Given the description of an element on the screen output the (x, y) to click on. 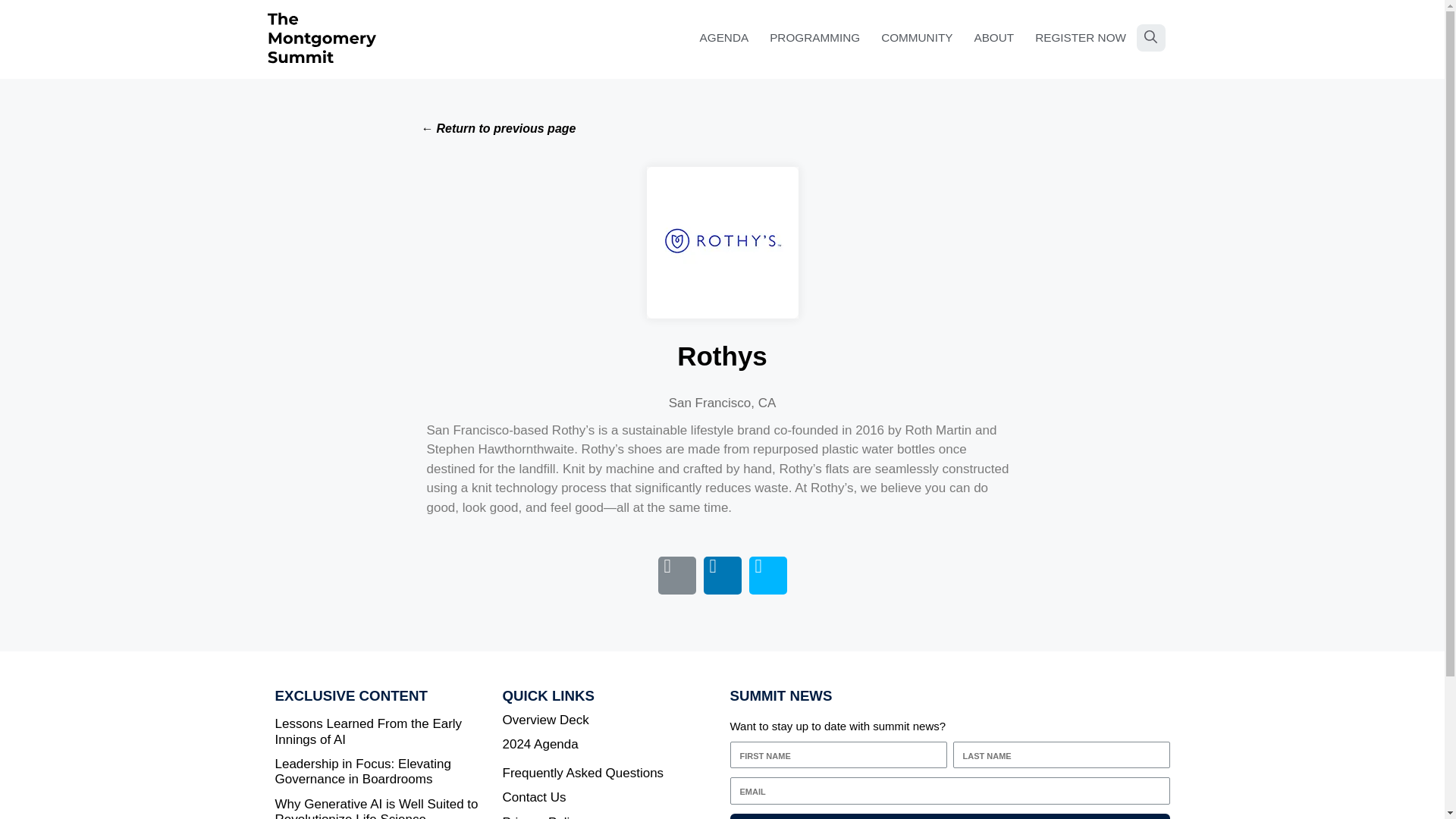
AGENDA (724, 37)
PROGRAMMING (814, 37)
COMMUNITY (916, 37)
REGISTER NOW (1081, 37)
ABOUT (993, 37)
